Given the description of an element on the screen output the (x, y) to click on. 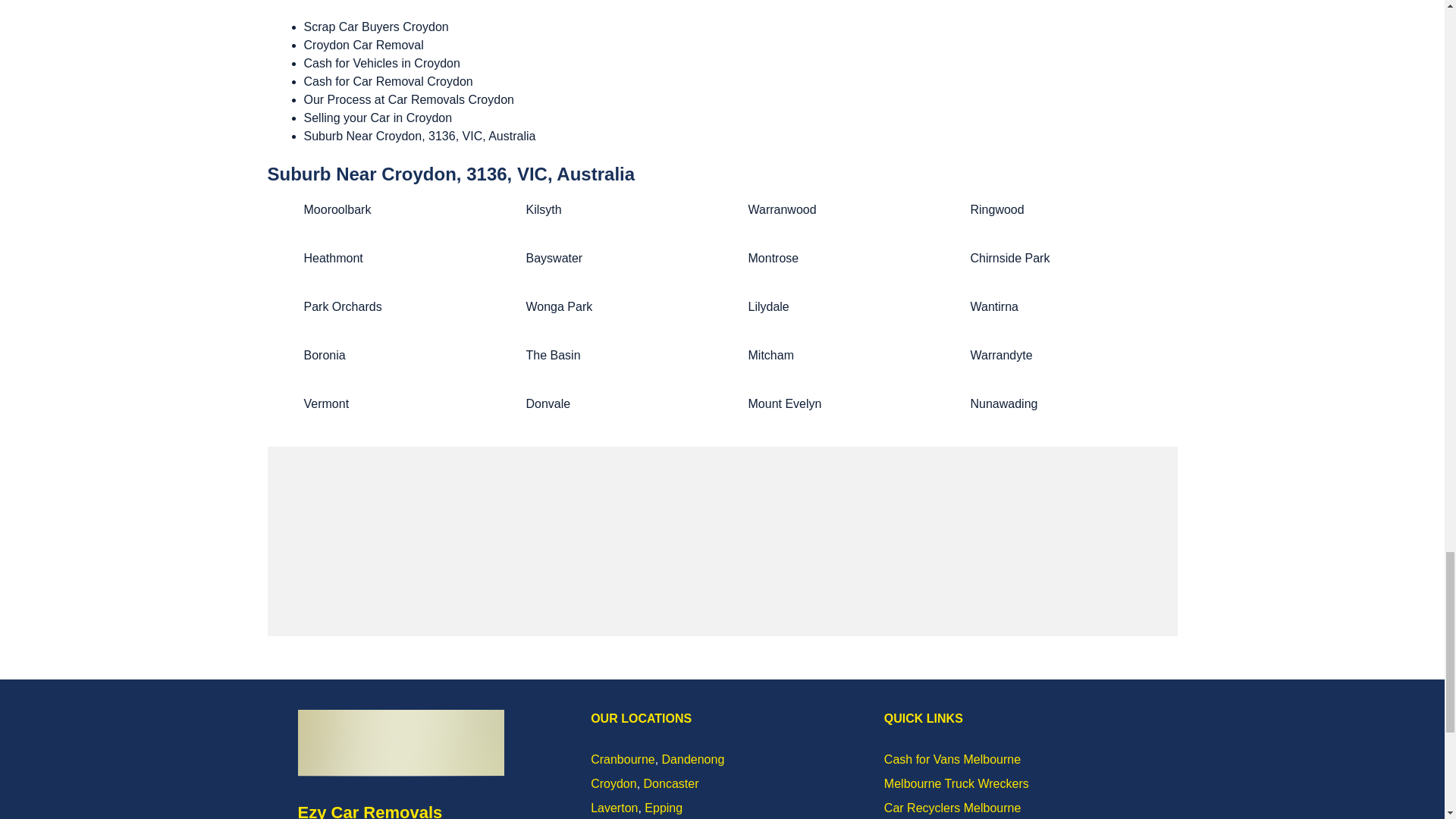
Mooroolbark (336, 209)
Car Removals Heathmont (332, 257)
Cash for Vehicles in Croydon (381, 62)
Cash for Car Removal Croydon (386, 81)
Car Removals Ringwood (998, 209)
Vermont (325, 403)
Suburb Near Croydon, 3136, VIC, Australia (418, 135)
Wonga Park (558, 306)
Car Removals Boronia (323, 354)
Scrap Car Buyers Croydon (375, 26)
